Given the description of an element on the screen output the (x, y) to click on. 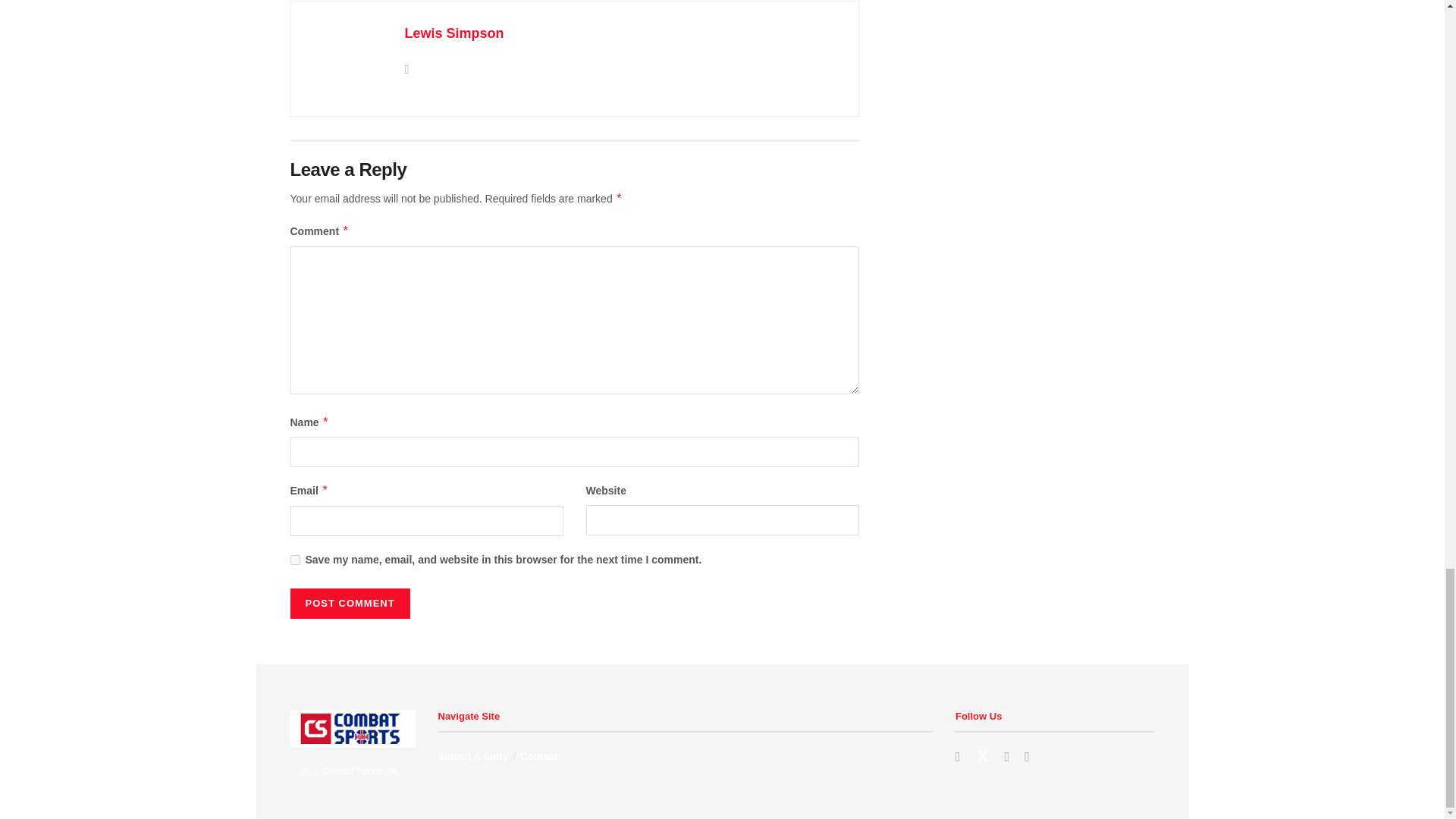
Post Comment (349, 603)
yes (294, 560)
Your main source of UK combat sports news. (359, 770)
